Given the description of an element on the screen output the (x, y) to click on. 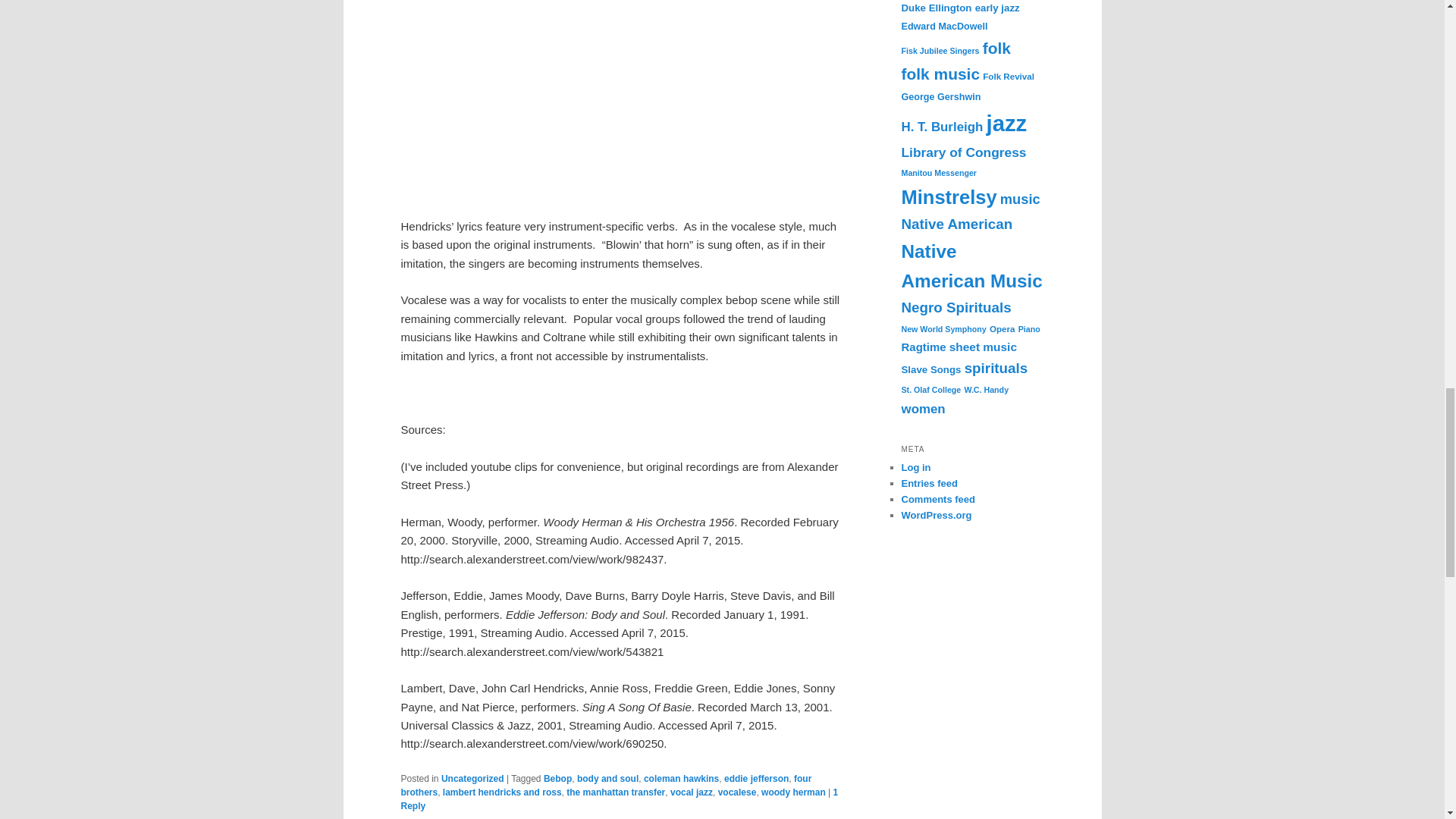
coleman hawkins (681, 778)
vocalese (737, 792)
1 Reply (619, 799)
vocal jazz (691, 792)
four brothers (605, 785)
the manhattan transfer (615, 792)
lambert hendricks and ross (502, 792)
Bebop (557, 778)
Uncategorized (472, 778)
eddie jefferson (756, 778)
body and soul (607, 778)
woody herman (793, 792)
